Given the description of an element on the screen output the (x, y) to click on. 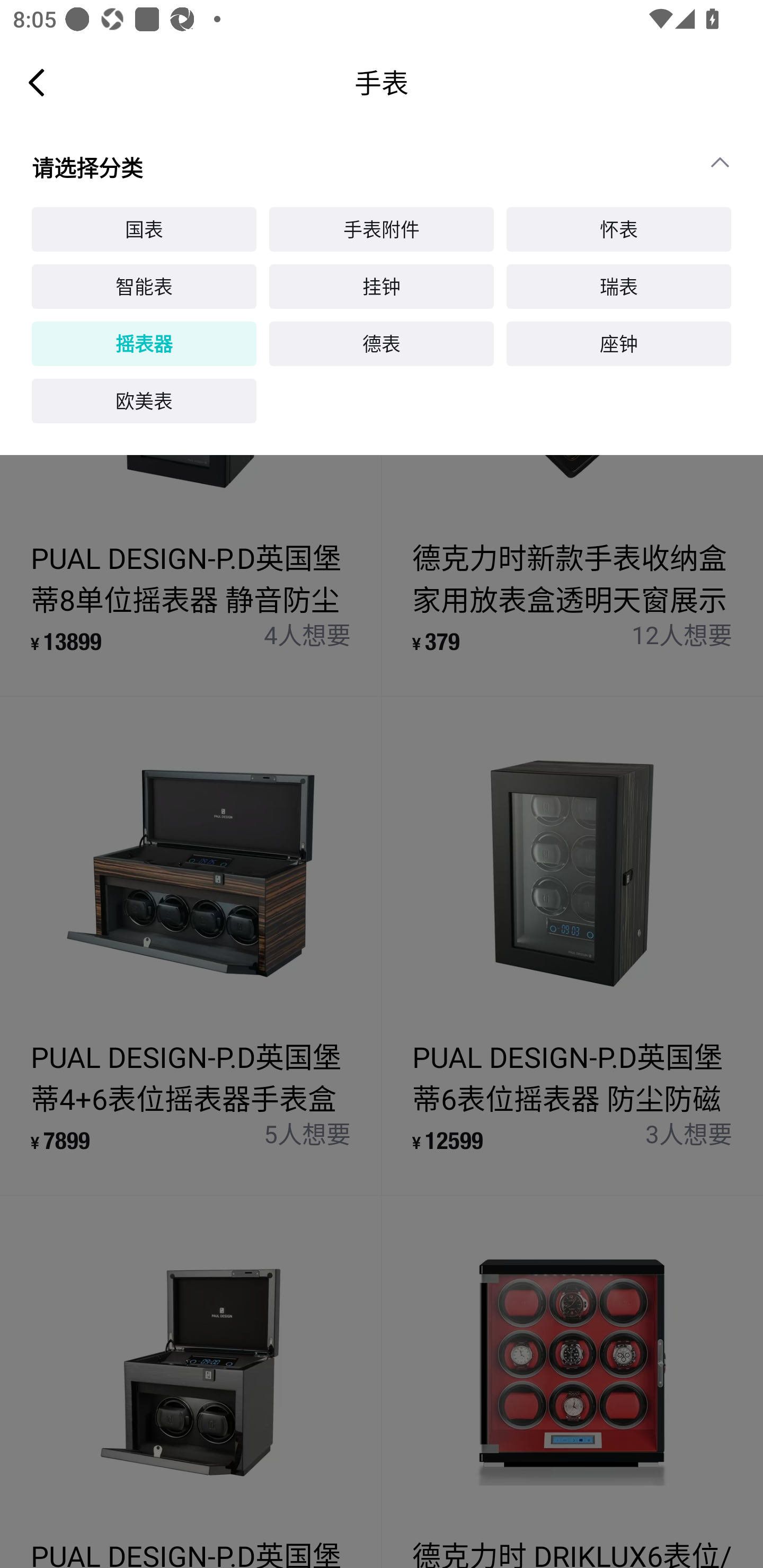
Navigate up (36, 82)
 (727, 162)
国表 (144, 228)
手表附件 (381, 228)
怀表 (618, 228)
智能表 (144, 286)
挂钟 (381, 286)
瑞表 (618, 286)
摇表器 (144, 343)
德表 (381, 343)
座钟 (618, 343)
欧美表 (144, 401)
